Given the description of an element on the screen output the (x, y) to click on. 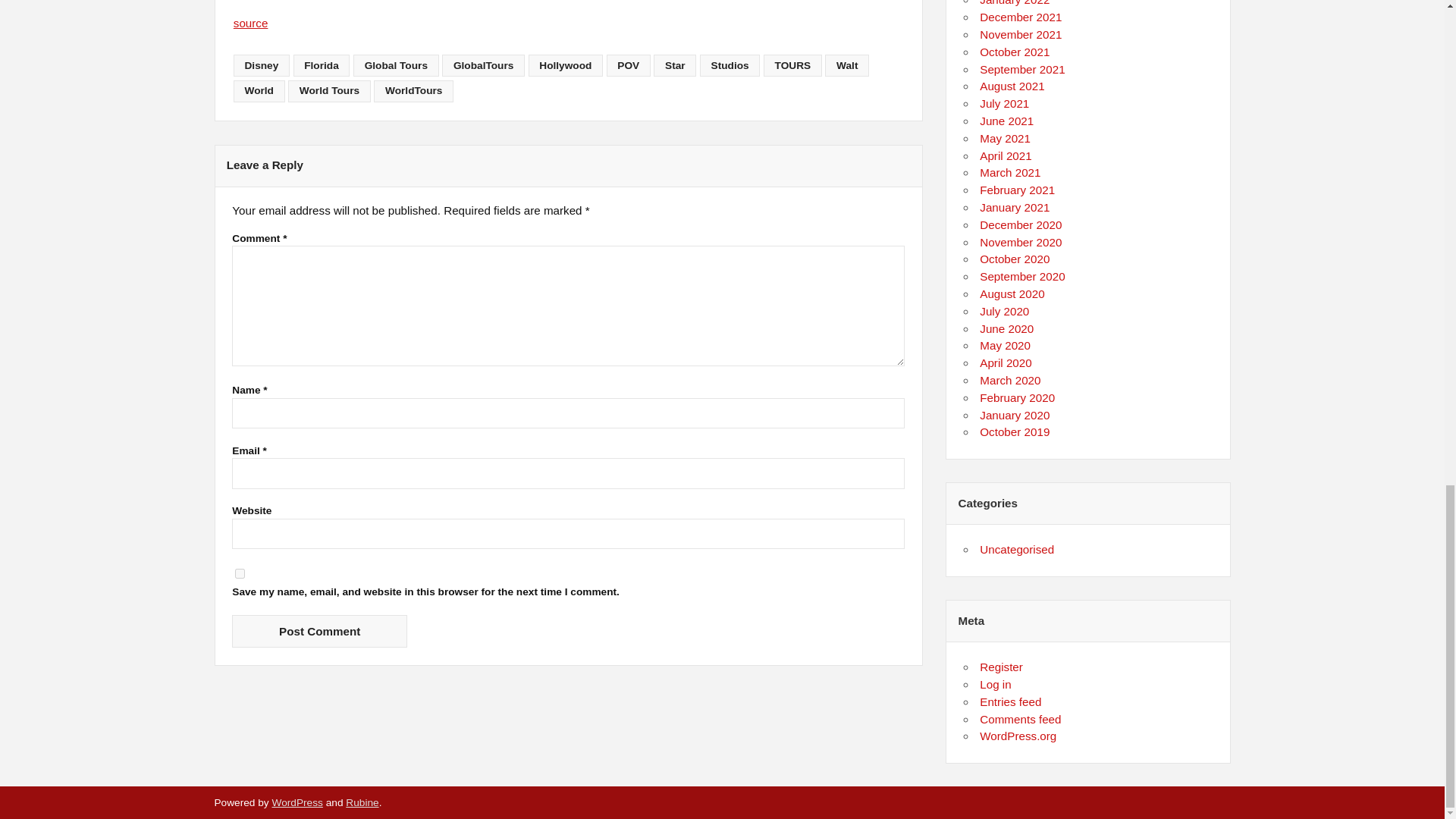
Post Comment (319, 630)
WordPress (295, 802)
yes (239, 573)
Rubine WordPress Theme (362, 802)
